Given the description of an element on the screen output the (x, y) to click on. 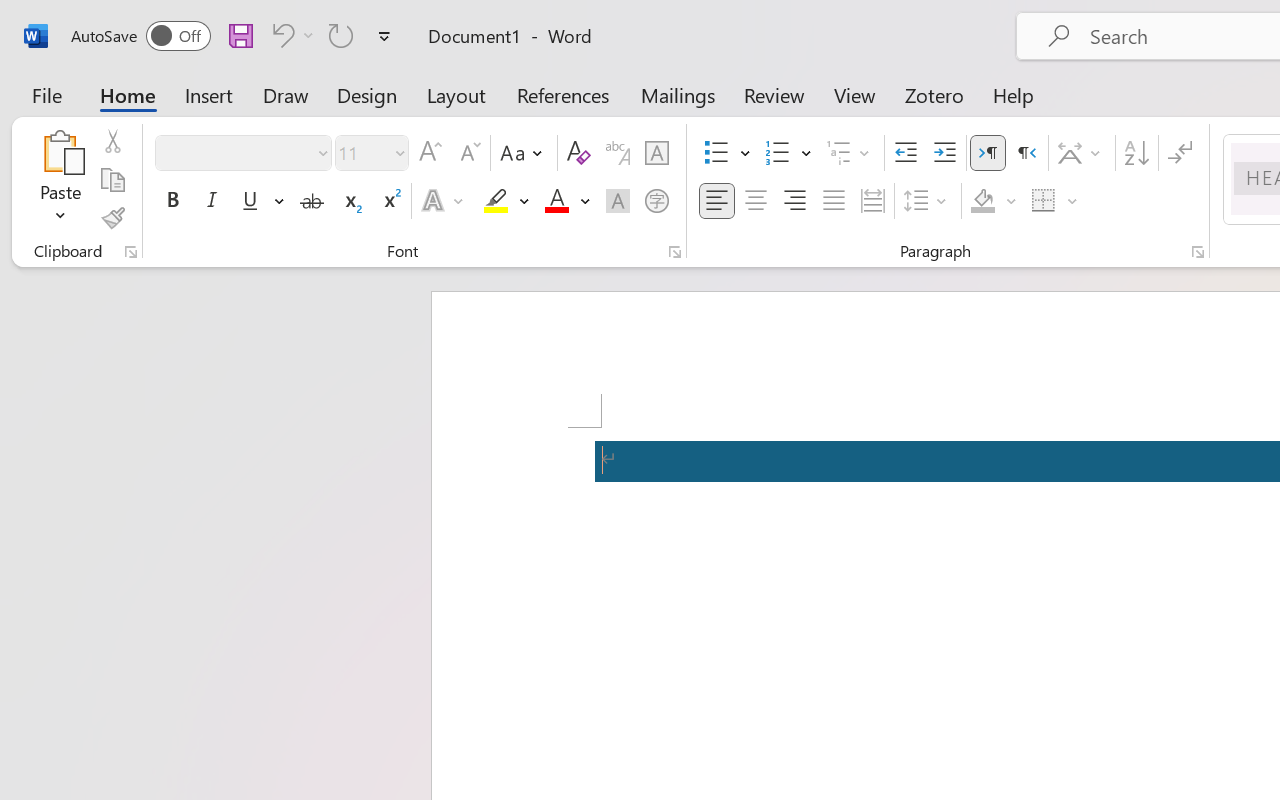
Undo Apply Quick Style Set (290, 35)
